Given the description of an element on the screen output the (x, y) to click on. 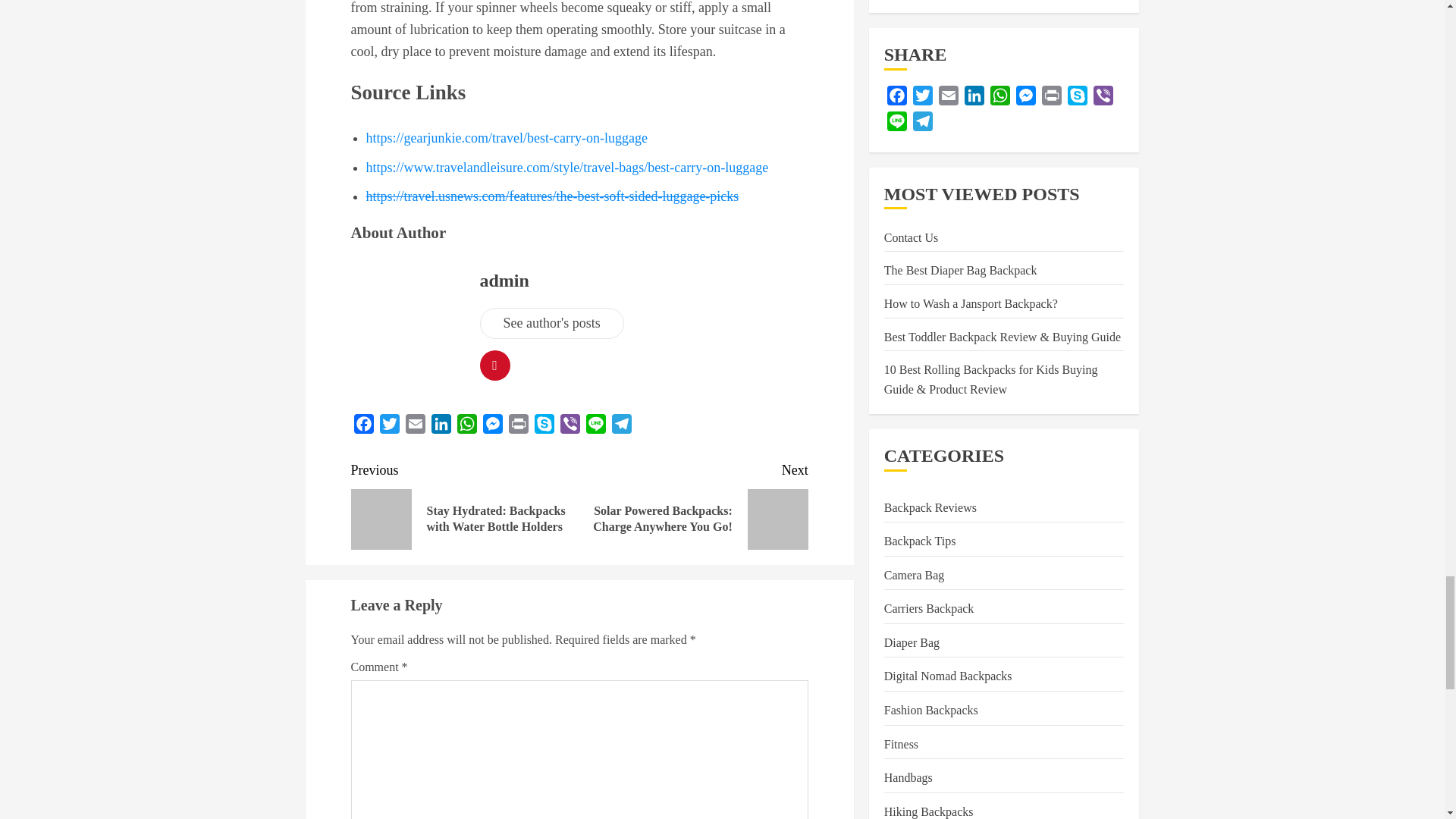
See author's posts (551, 323)
admin (503, 281)
